Given the description of an element on the screen output the (x, y) to click on. 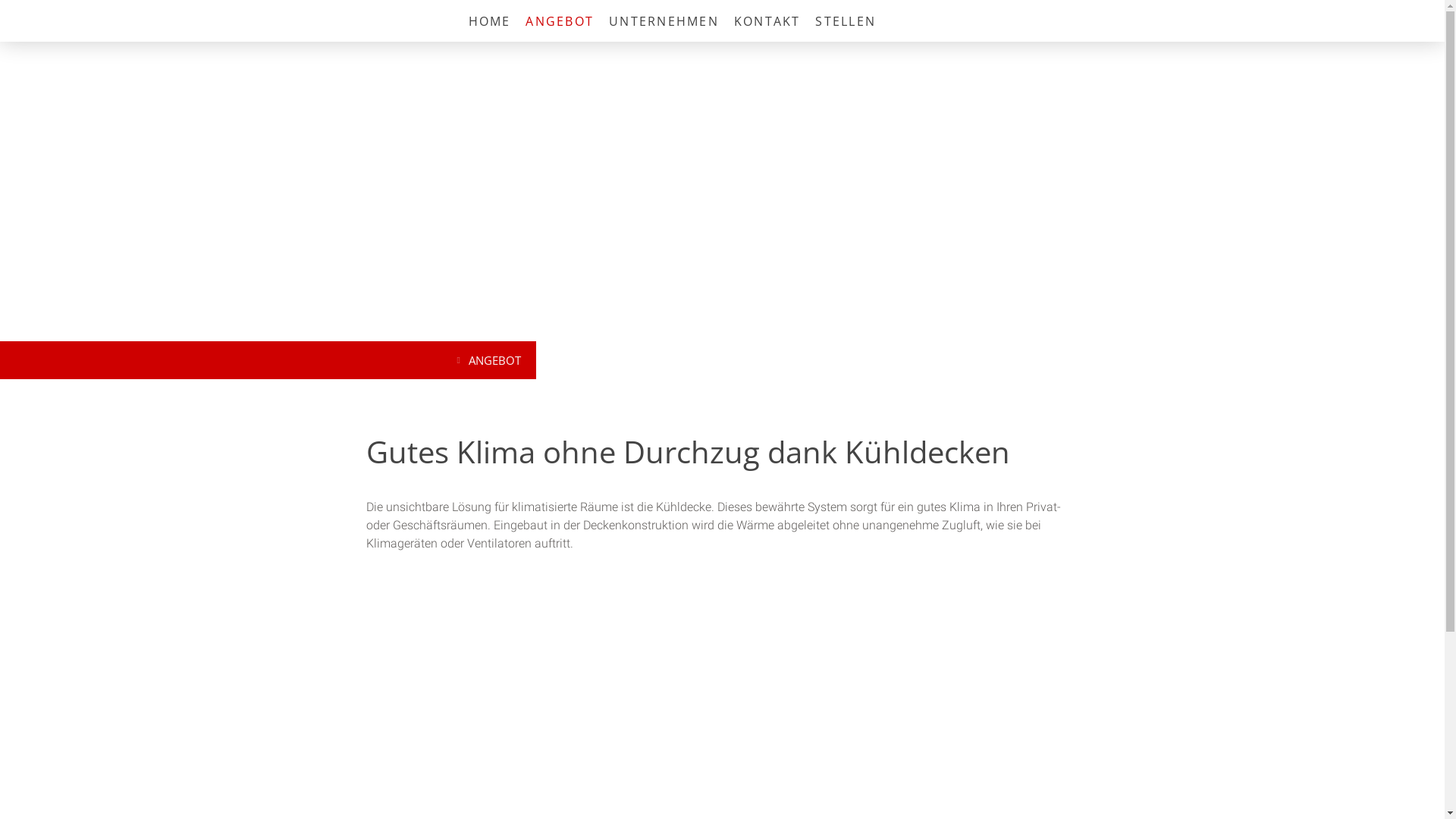
STELLEN Element type: text (845, 20)
ANGEBOT Element type: text (490, 360)
HOME Element type: text (489, 20)
UNTERNEHMEN Element type: text (663, 20)
ANGEBOT Element type: text (559, 20)
KONTAKT Element type: text (767, 20)
